Given the description of an element on the screen output the (x, y) to click on. 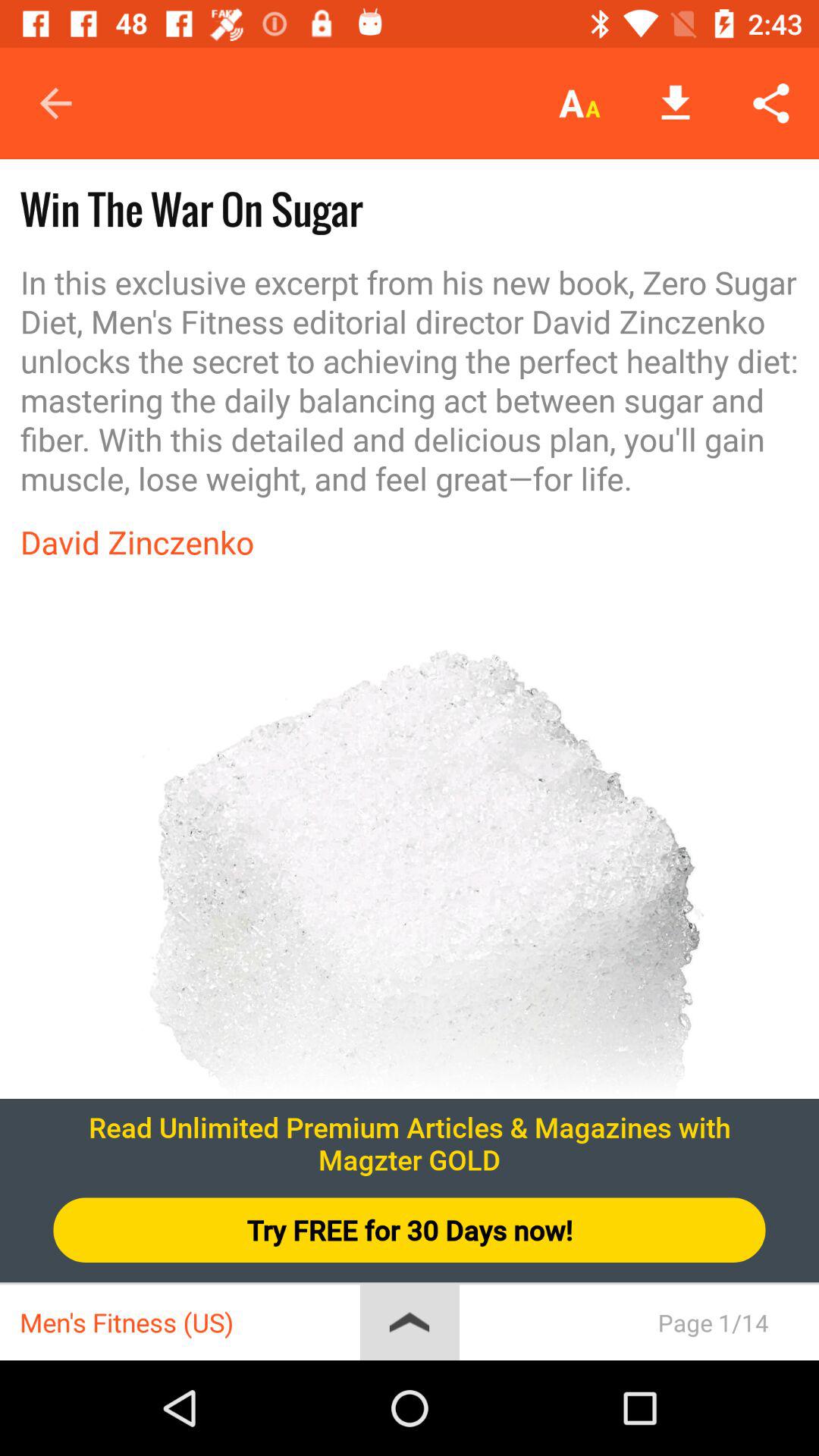
choose the icon above the win the war item (55, 103)
